Given the description of an element on the screen output the (x, y) to click on. 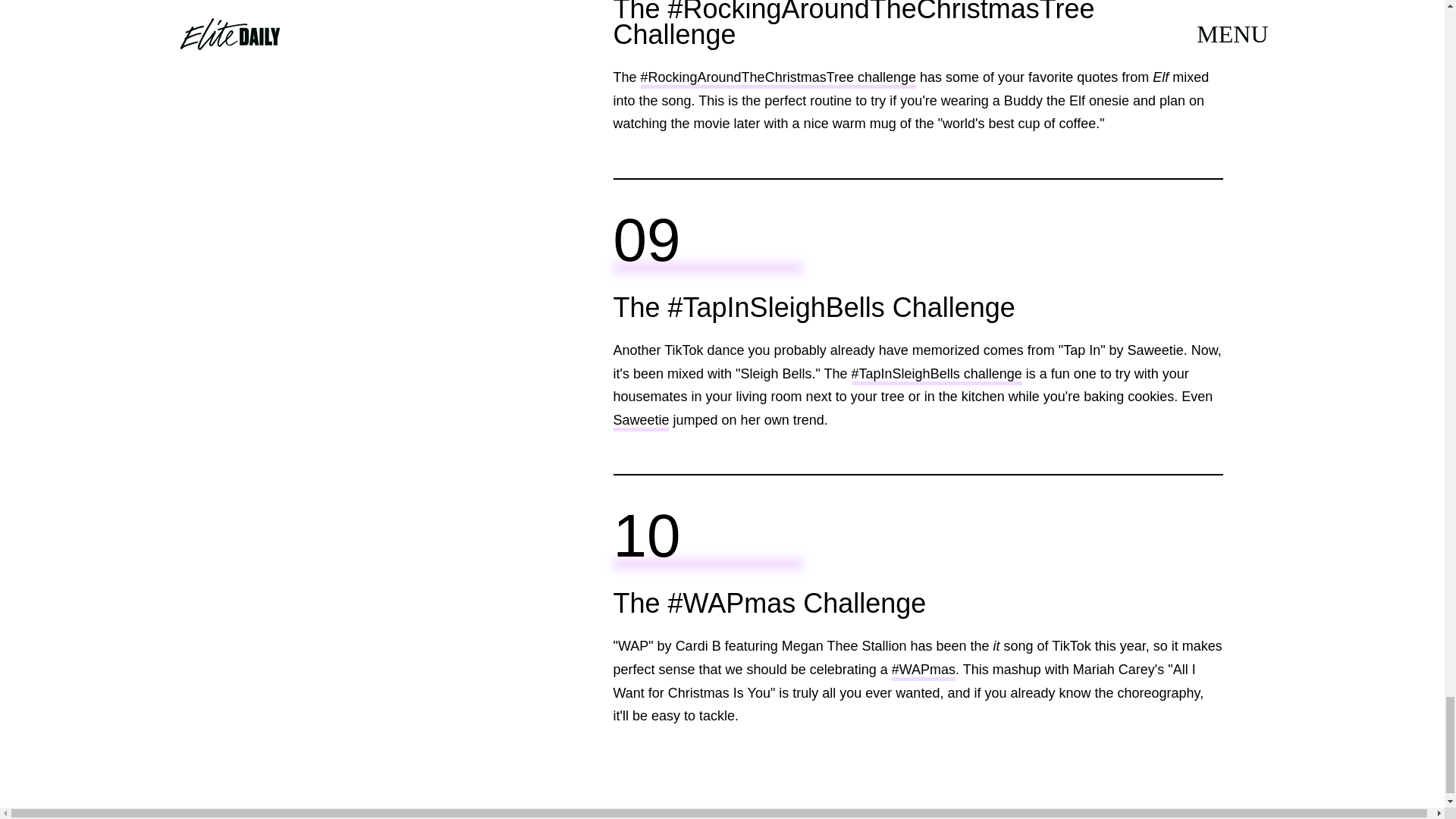
Saweetie (640, 421)
